Given the description of an element on the screen output the (x, y) to click on. 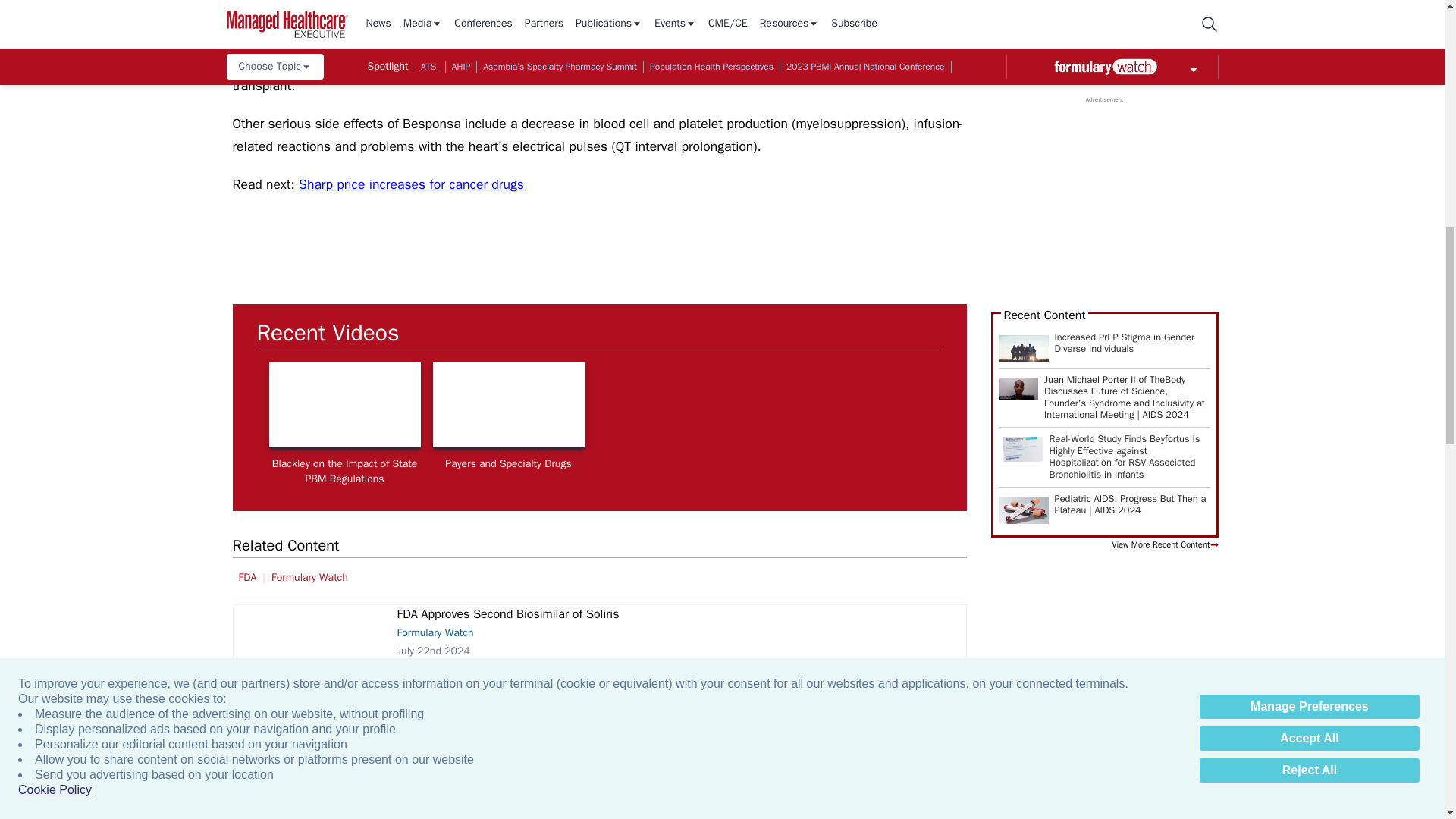
Payers and Specialty Drugs (507, 404)
Blackley on the Impact of State PBM Regulations (343, 404)
MdBabul-stock.adobe.com (305, 686)
